Given the description of an element on the screen output the (x, y) to click on. 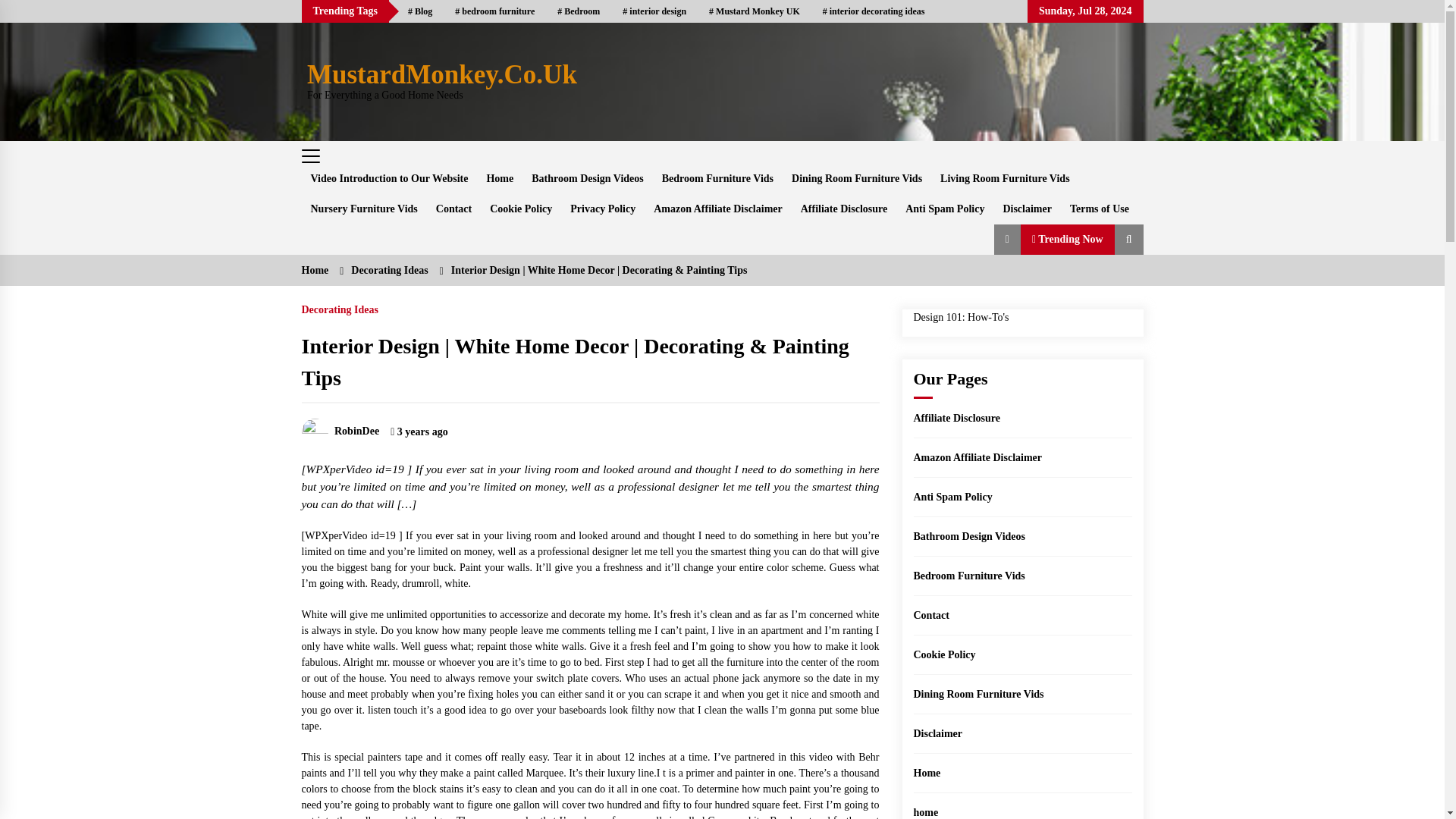
Bedroom (578, 11)
Amazon Affiliate Disclaimer (718, 209)
Affiliate Disclosure (844, 209)
interior design (654, 11)
Disclaimer (1026, 209)
Home (499, 178)
interior decorating ideas (873, 11)
Contact (453, 209)
Anti Spam Policy (944, 209)
Bathroom Design Videos (587, 178)
Bedroom Furniture Vids (717, 178)
Privacy Policy (602, 209)
MustardMonkey.Co.Uk (441, 74)
bedroom furniture (495, 11)
Terms of Use (1099, 209)
